Given the description of an element on the screen output the (x, y) to click on. 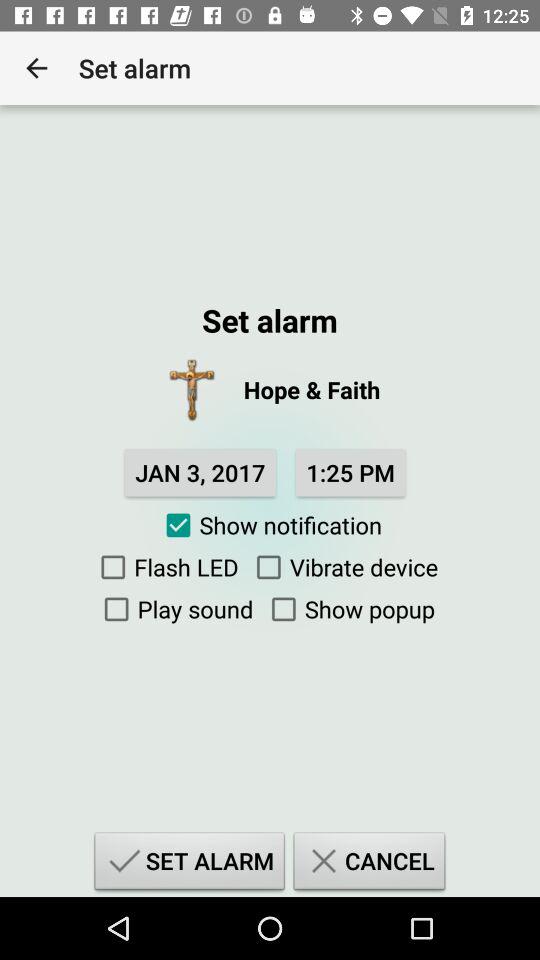
press icon above show notification item (200, 472)
